Given the description of an element on the screen output the (x, y) to click on. 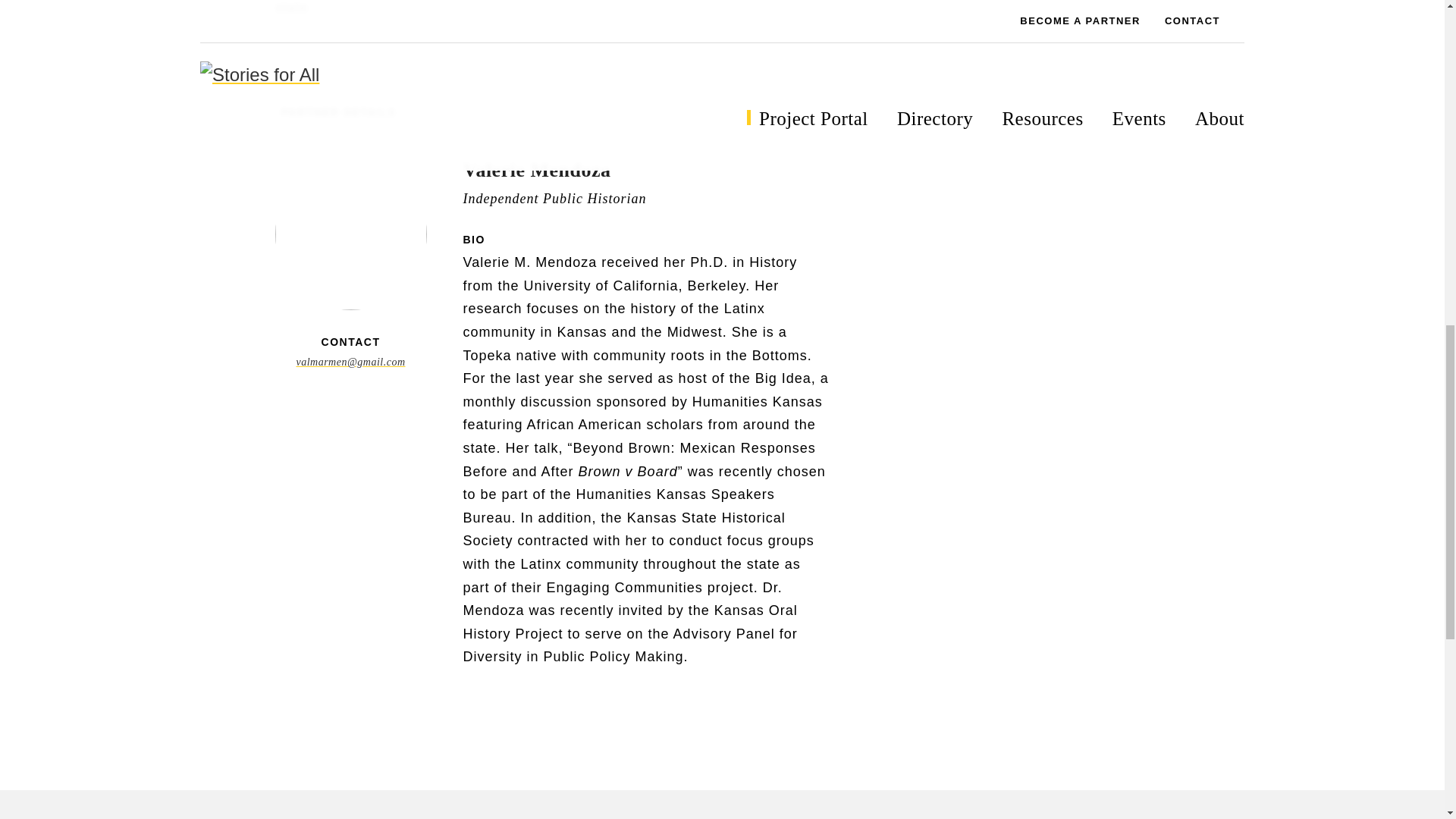
Email Valerie Mendoza (349, 361)
